Given the description of an element on the screen output the (x, y) to click on. 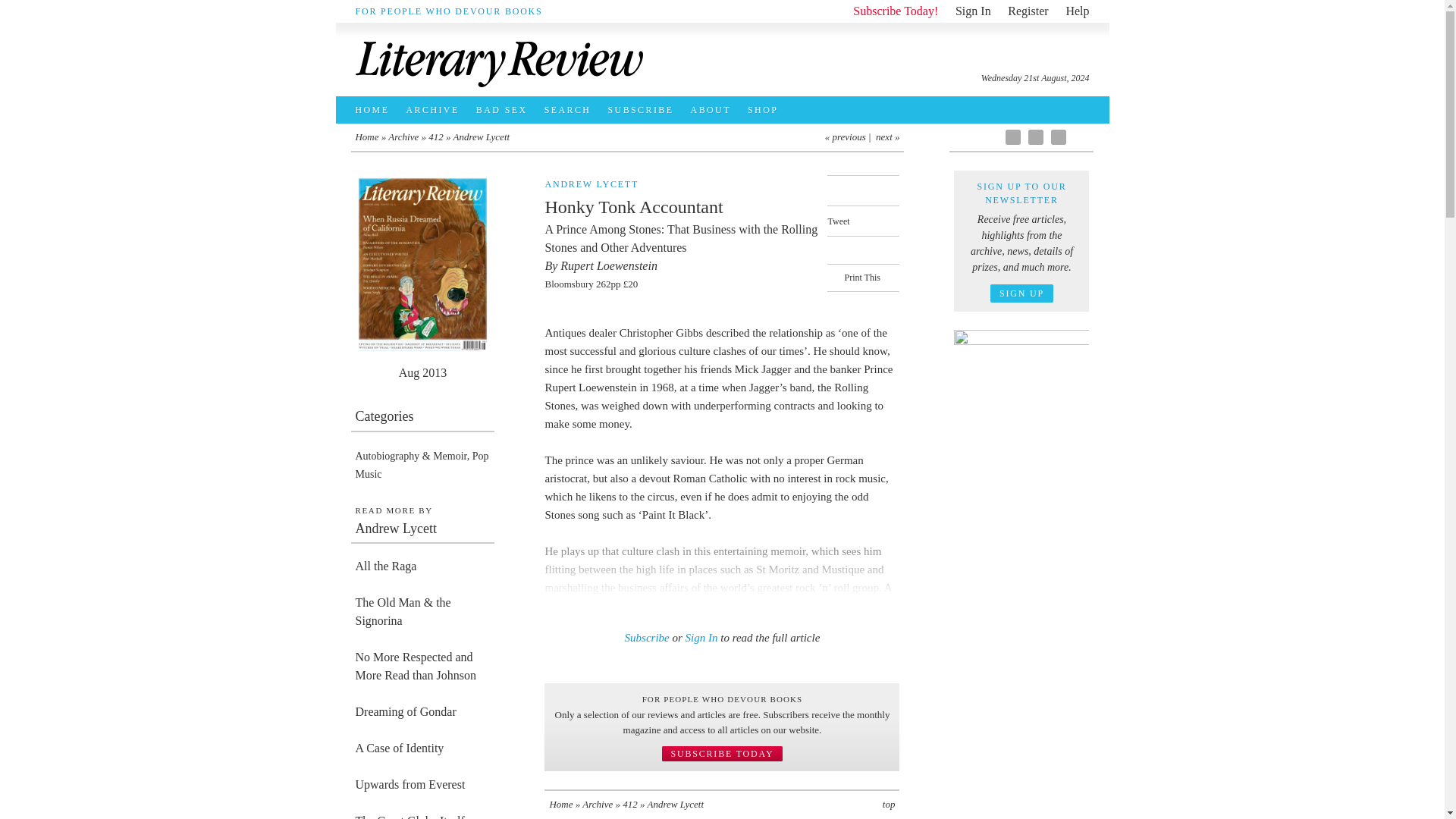
412 (436, 136)
ABOUT (713, 109)
SEARCH (572, 109)
Subscribe Today! (895, 10)
Home (366, 136)
previous (847, 136)
Permanent Link to The Great Globe Itself (422, 813)
SHOP (766, 109)
Sign In (973, 10)
Help (1077, 10)
